Given the description of an element on the screen output the (x, y) to click on. 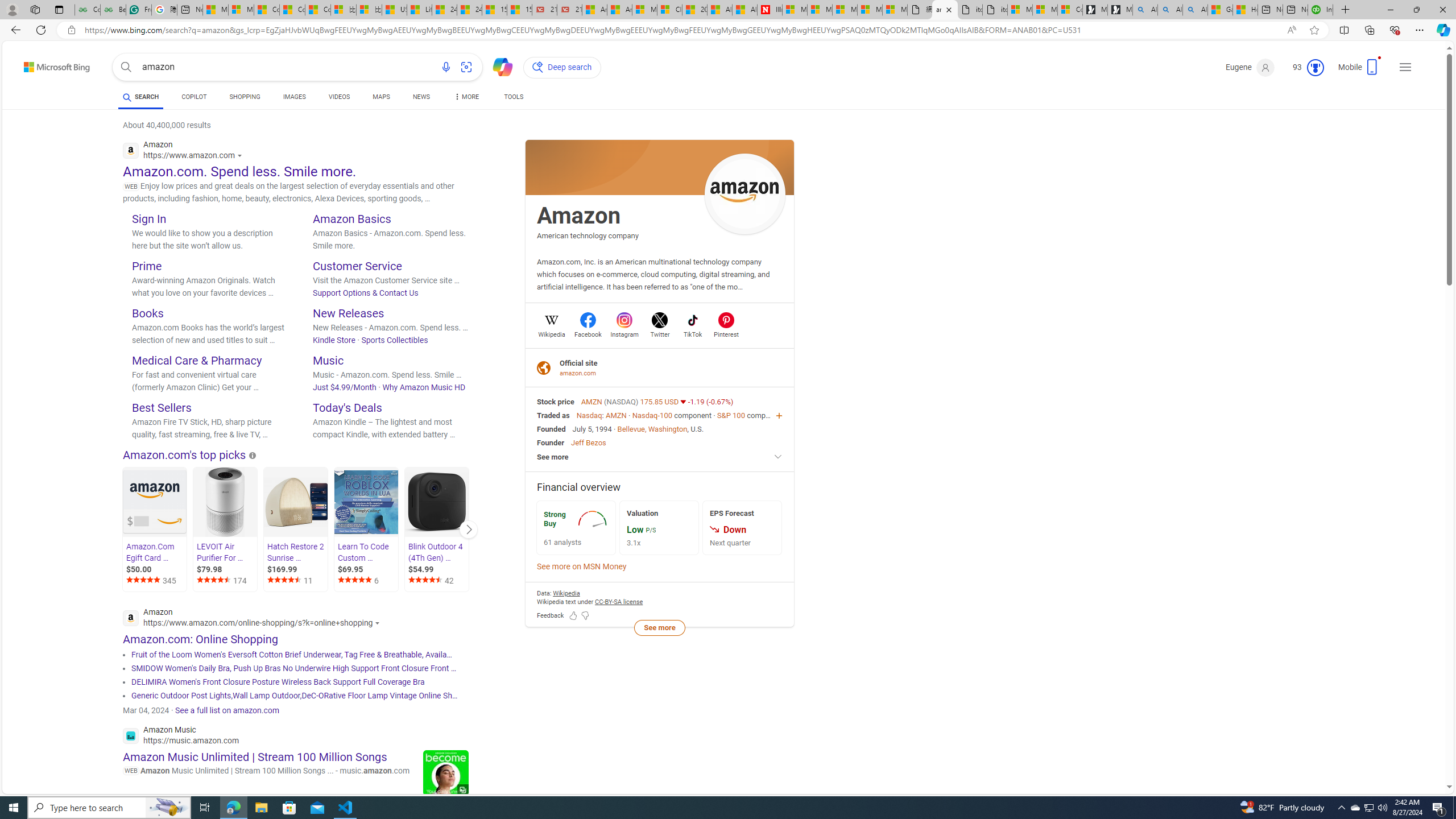
Dropdown Menu (465, 96)
NEWS (421, 98)
$69.95 (367, 569)
AMZN  (592, 401)
VIDEOS (339, 98)
Nasdaq-100 (651, 415)
EPS Forecast Down Next quarter (742, 527)
Search button (126, 66)
